Given the description of an element on the screen output the (x, y) to click on. 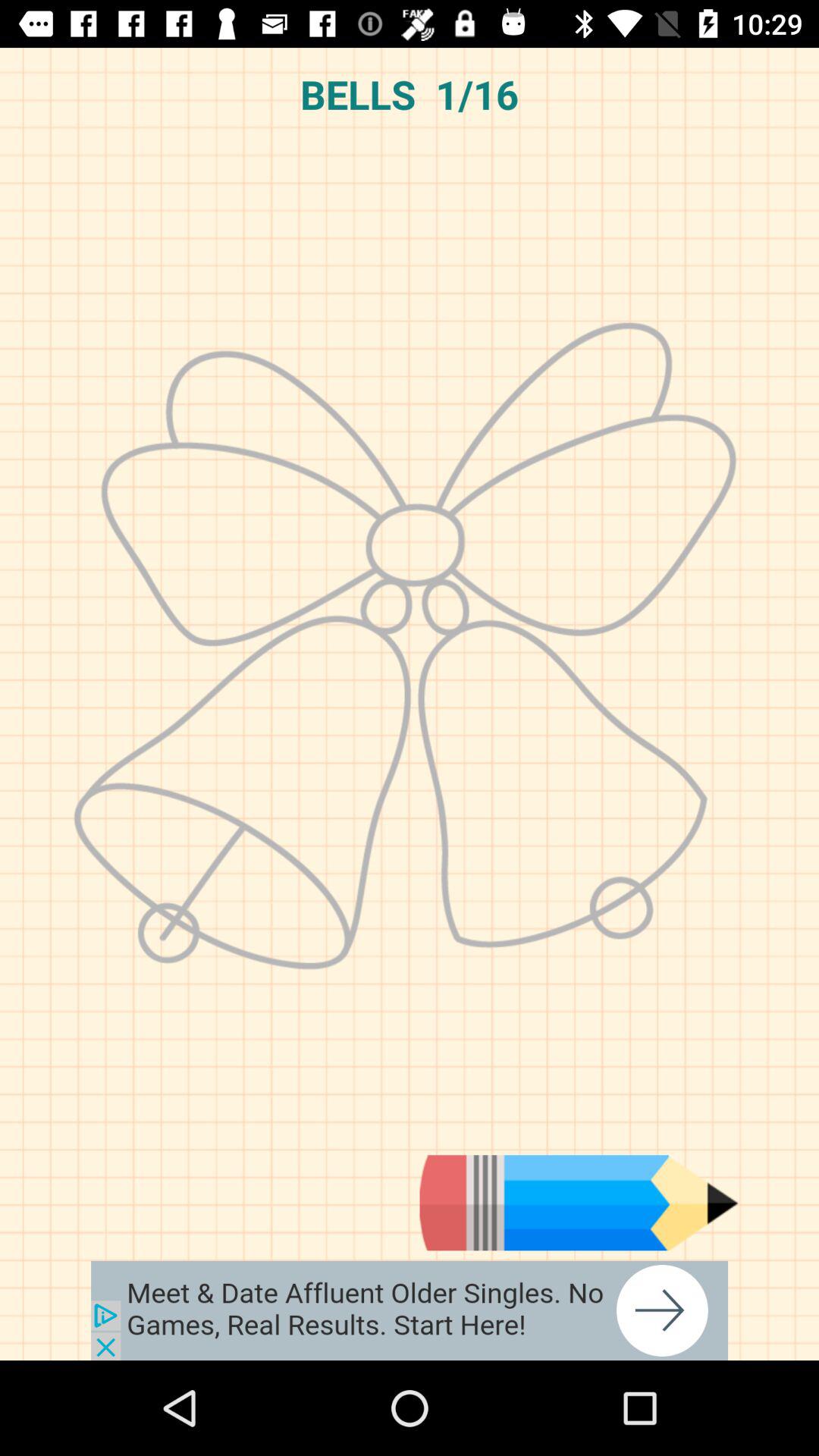
select drawing tool (578, 1202)
